Given the description of an element on the screen output the (x, y) to click on. 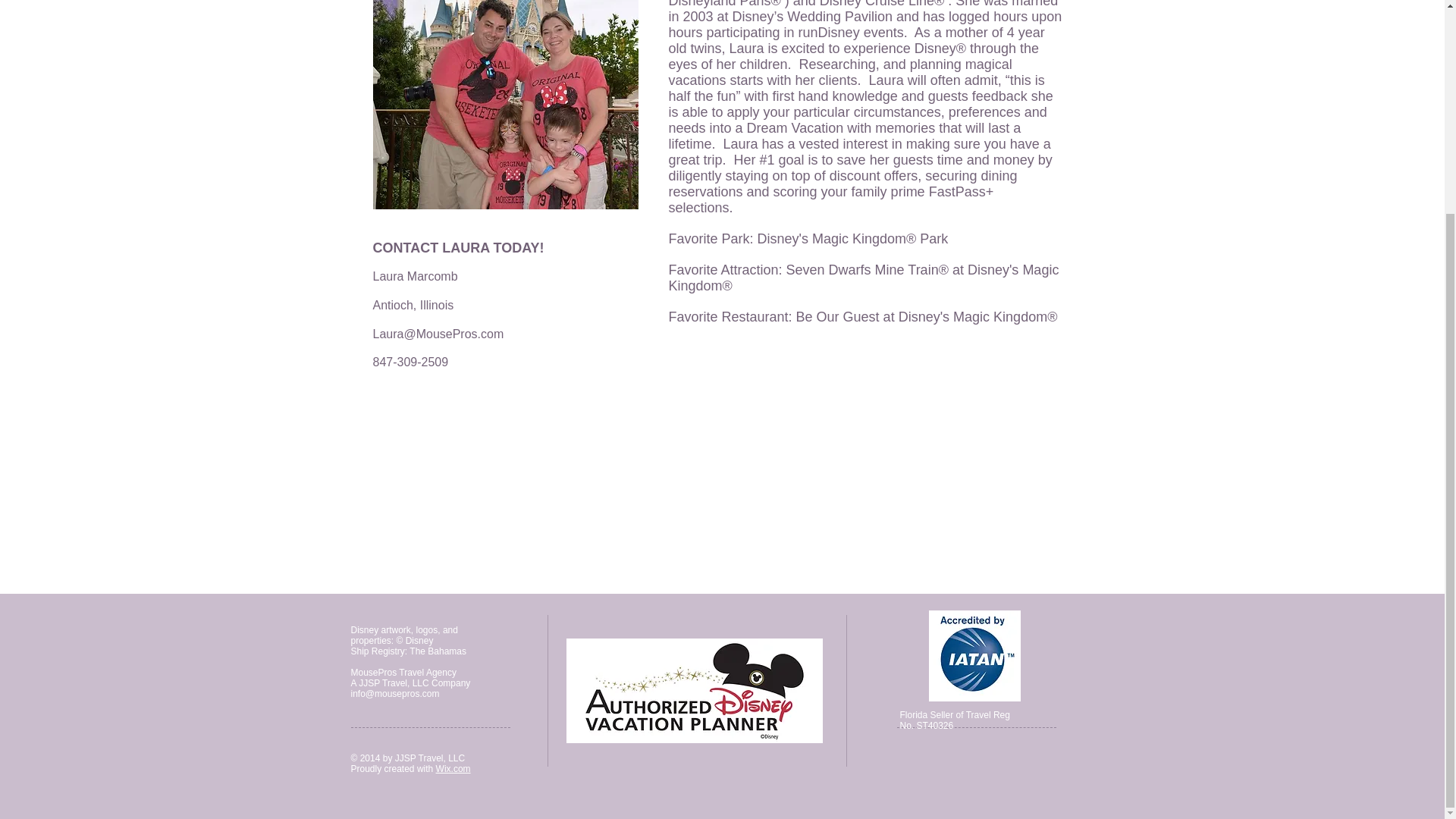
Wix.com (452, 768)
